Given the description of an element on the screen output the (x, y) to click on. 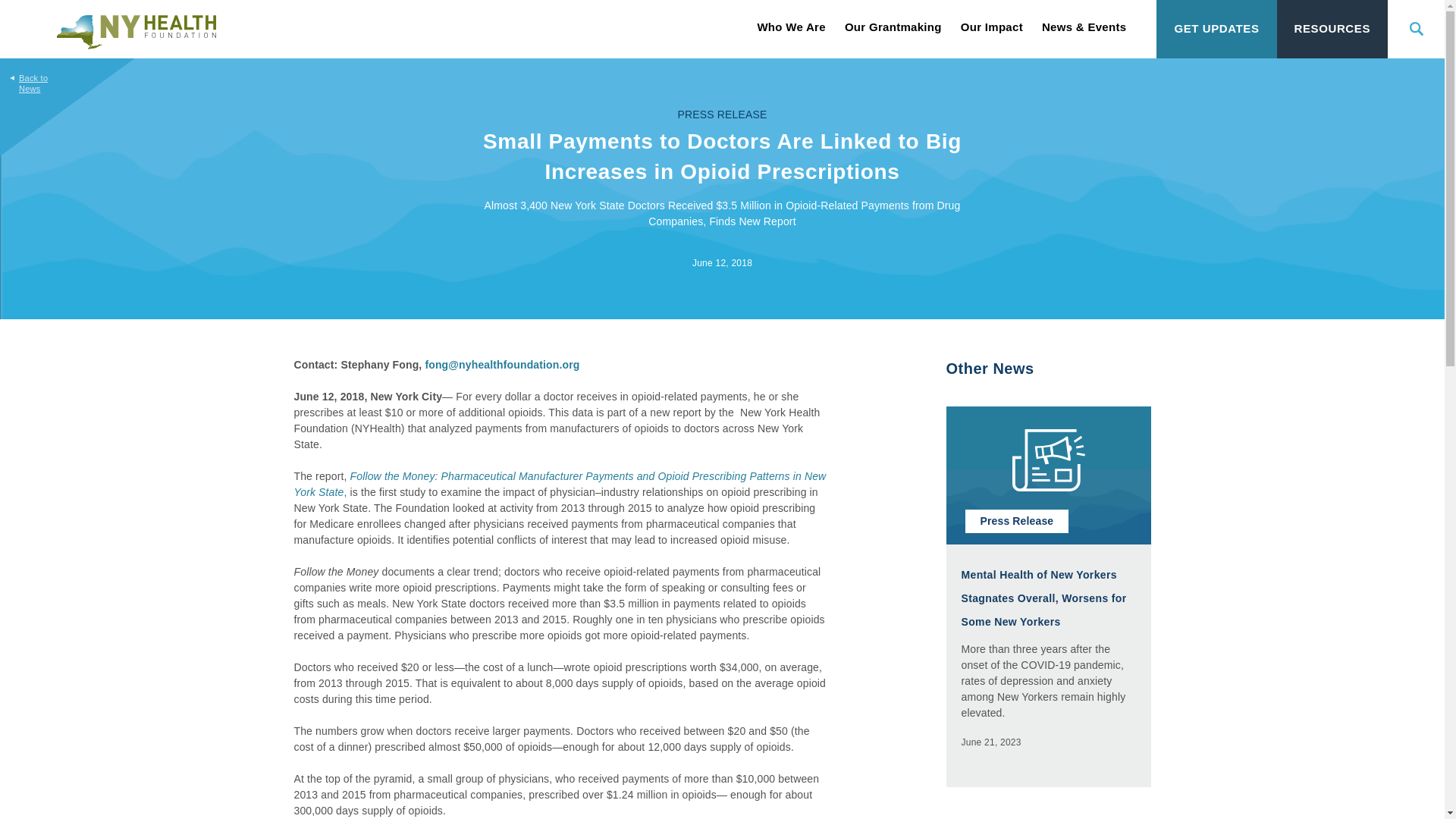
GET UPDATES (1216, 29)
RESOURCES (1331, 29)
Prescribing Patterns in New York State, (560, 483)
Back to News (28, 75)
